Given the description of an element on the screen output the (x, y) to click on. 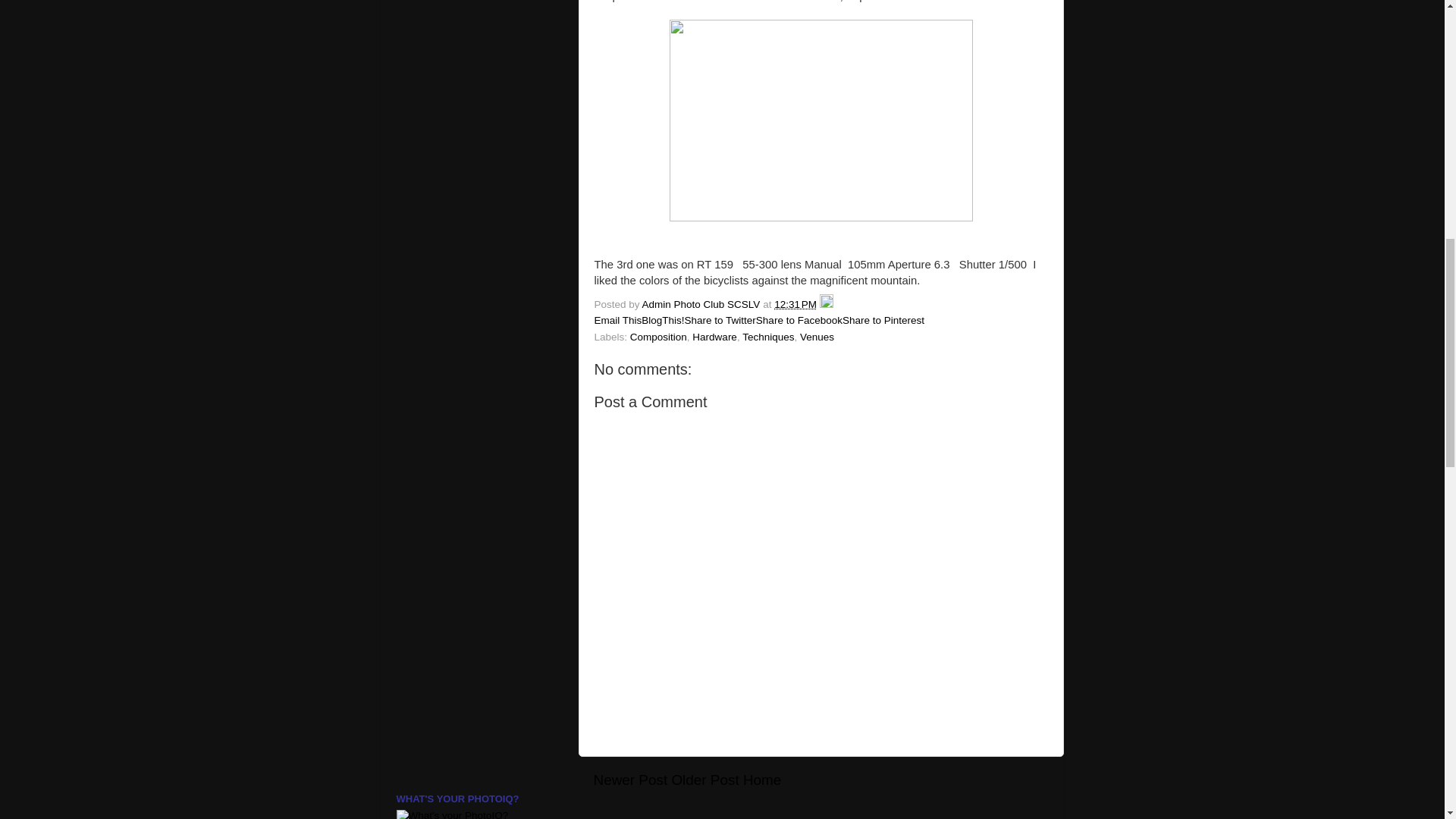
Hardware (714, 337)
Composition (658, 337)
Share to Pinterest (883, 319)
Newer Post (629, 779)
Newer Post (629, 779)
Admin Photo Club SCSLV (702, 304)
Share to Facebook (799, 319)
Share to Facebook (799, 319)
Edit Post (825, 304)
permanent link (795, 304)
author profile (702, 304)
BlogThis! (663, 319)
Share to Twitter (719, 319)
Email This (618, 319)
